Given the description of an element on the screen output the (x, y) to click on. 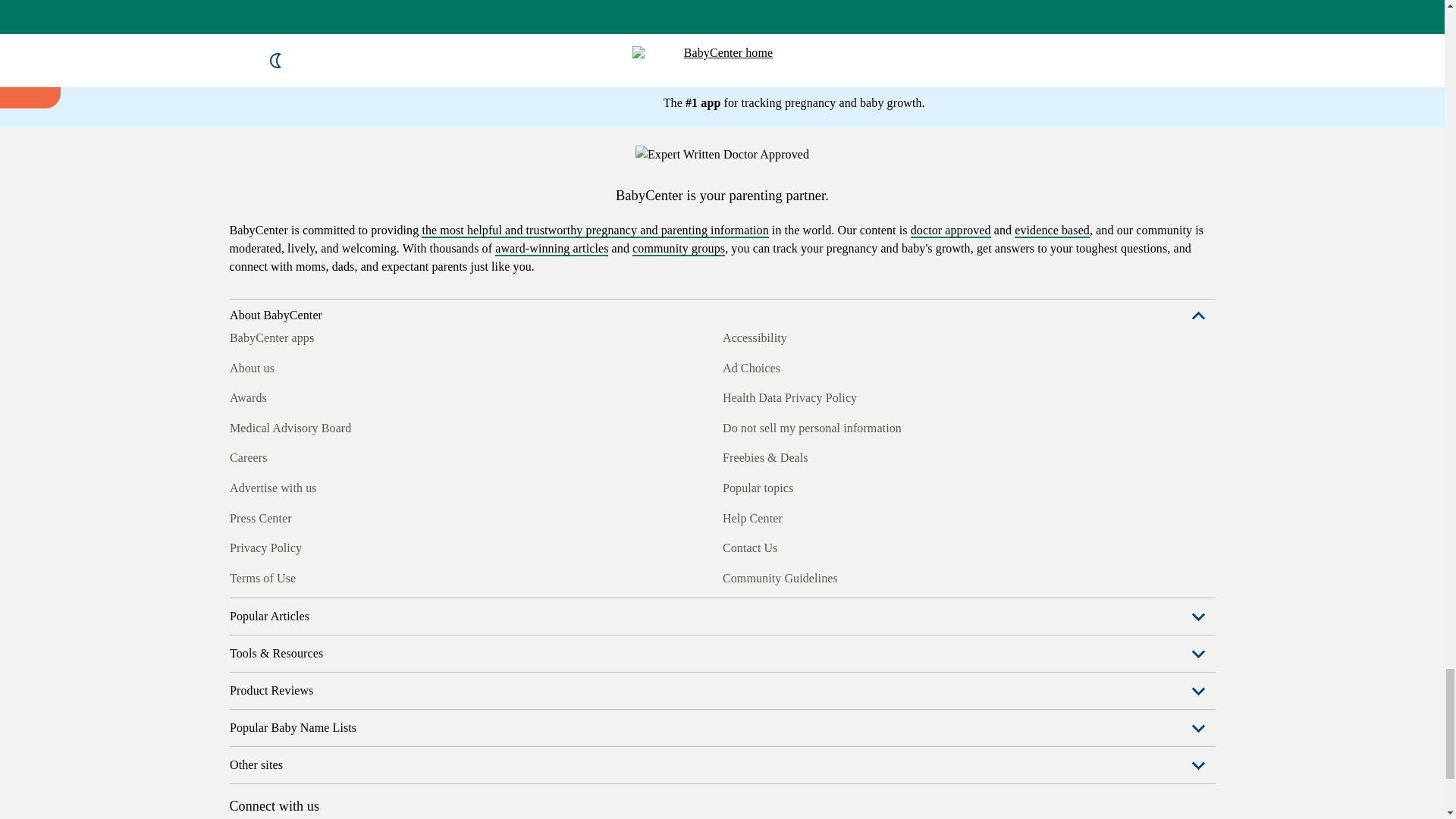
BabyCenter Facebook page (239, 322)
BabyCenter Pinterest board (309, 322)
BabyCenter YouTube channel (344, 322)
BabyCenter Instagram feed (274, 322)
BabyCenter Twitter feed (379, 322)
